Given the description of an element on the screen output the (x, y) to click on. 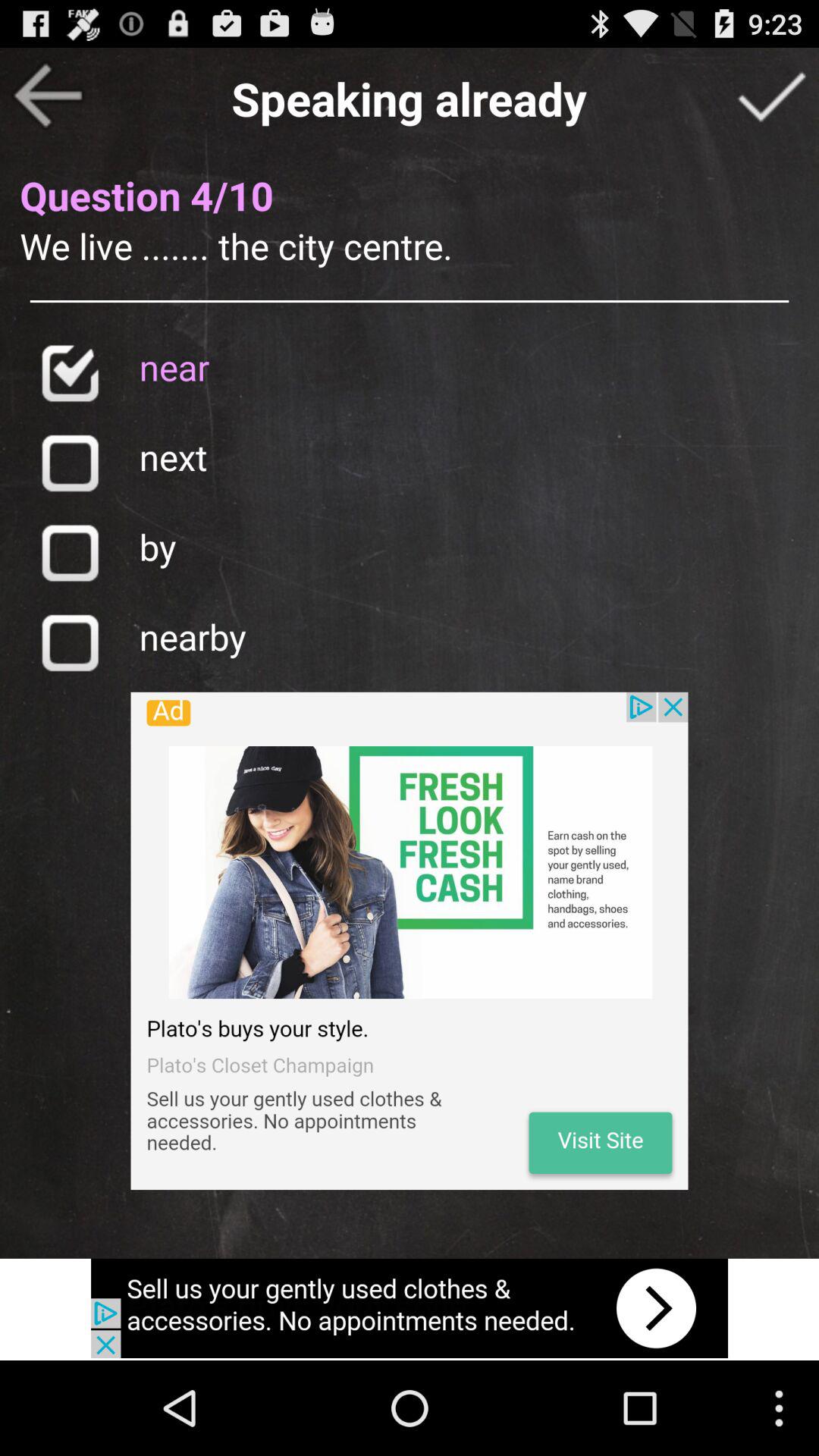
open advertisement (409, 940)
